Given the description of an element on the screen output the (x, y) to click on. 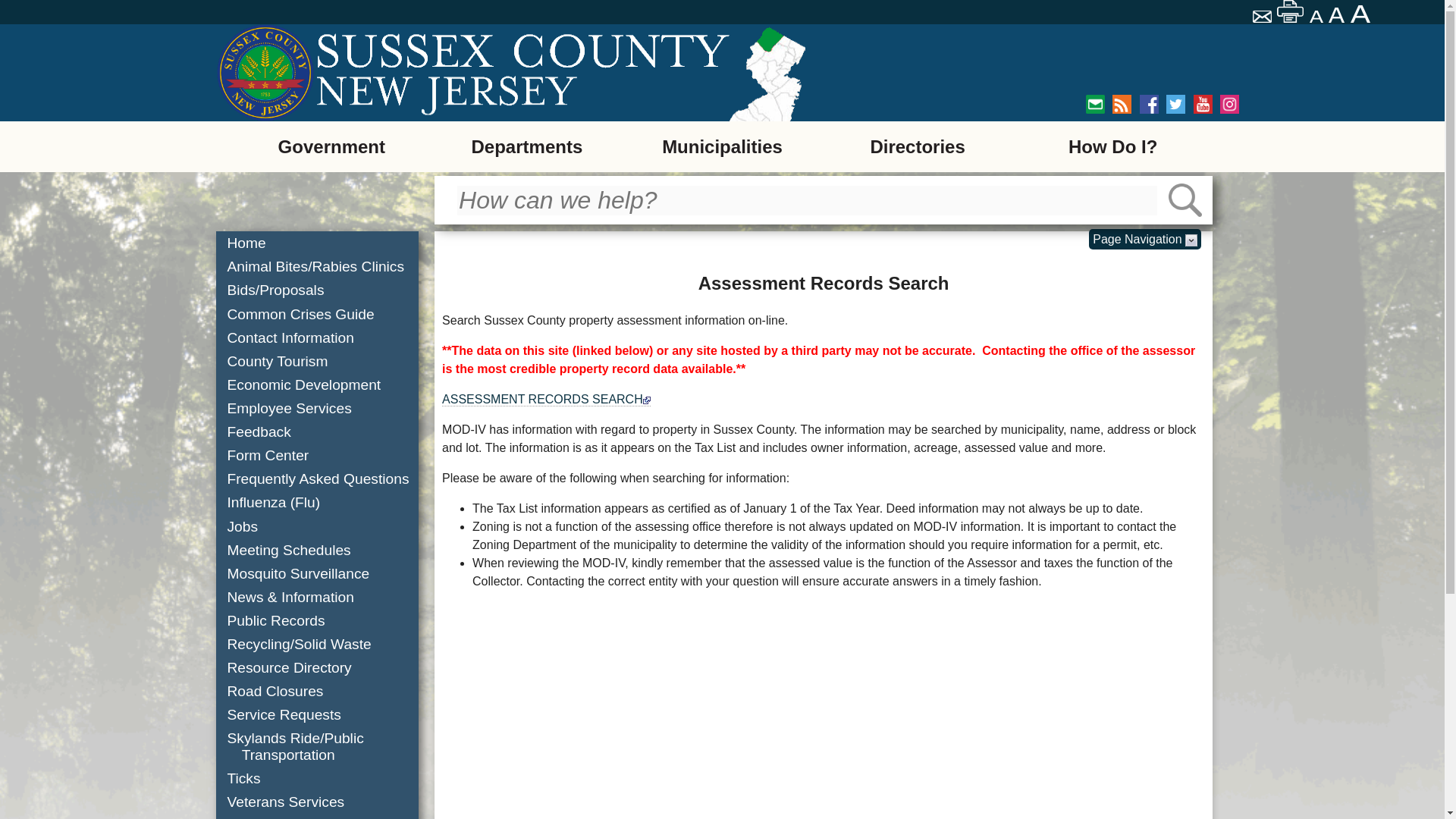
Visit our Facebook page (1149, 104)
Sign Up for emails from Sussex County (1095, 104)
Email page (1263, 18)
Large font size (1362, 13)
Medium font size (1336, 14)
Visit our RSS feed (1121, 104)
Search Box (807, 200)
Follow us on Twitter (1175, 104)
Government (330, 146)
Print page (1291, 11)
